Given the description of an element on the screen output the (x, y) to click on. 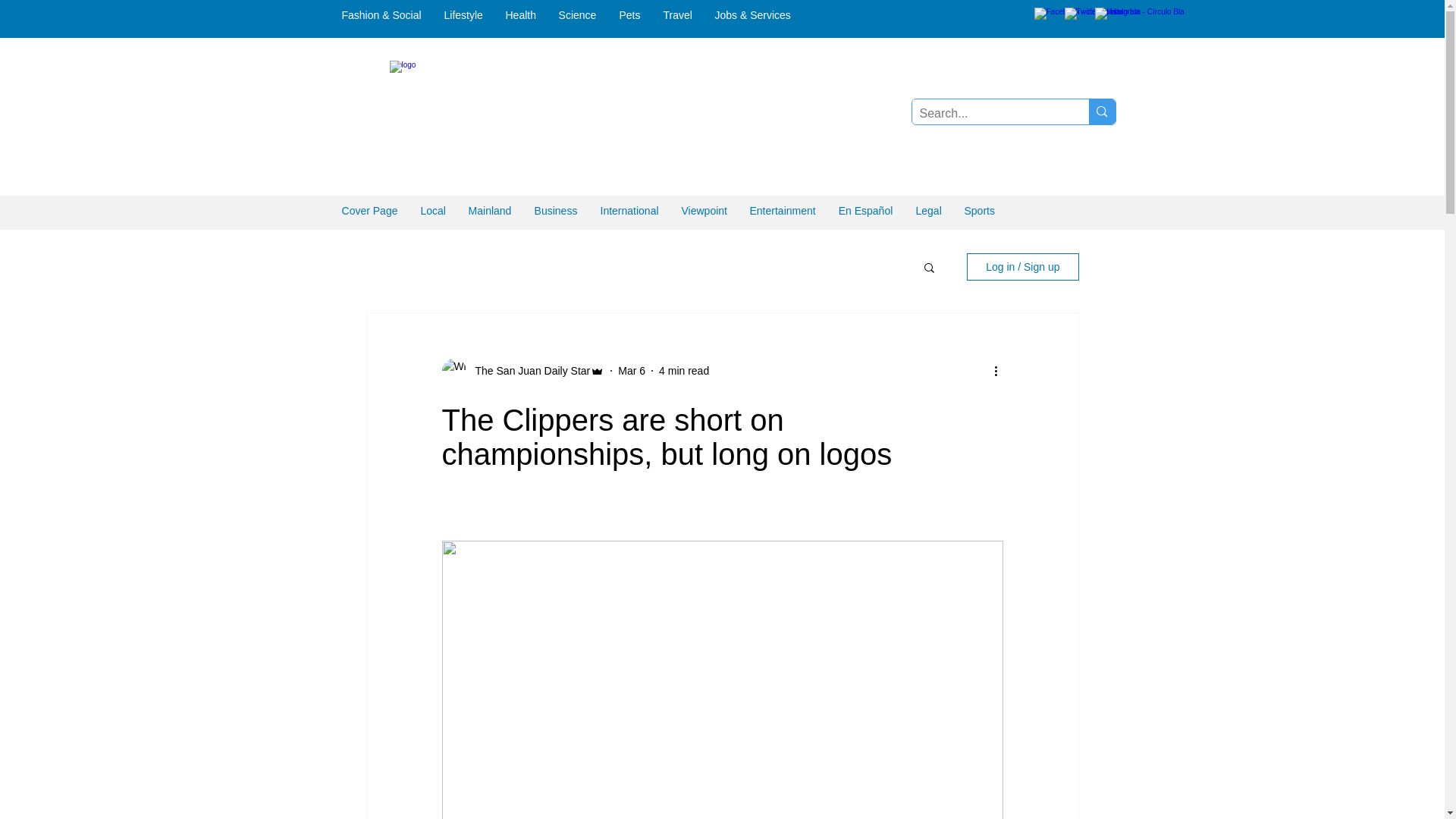
Viewpoint (703, 210)
Sports (979, 210)
Legal (928, 210)
Travel (677, 15)
Health (521, 15)
Mar 6 (631, 369)
Business (555, 210)
Local (433, 210)
International (628, 210)
4 min read (684, 369)
Mainland (489, 210)
Pets (630, 15)
Lifestyle (462, 15)
Entertainment (782, 210)
Cover Page (369, 210)
